Given the description of an element on the screen output the (x, y) to click on. 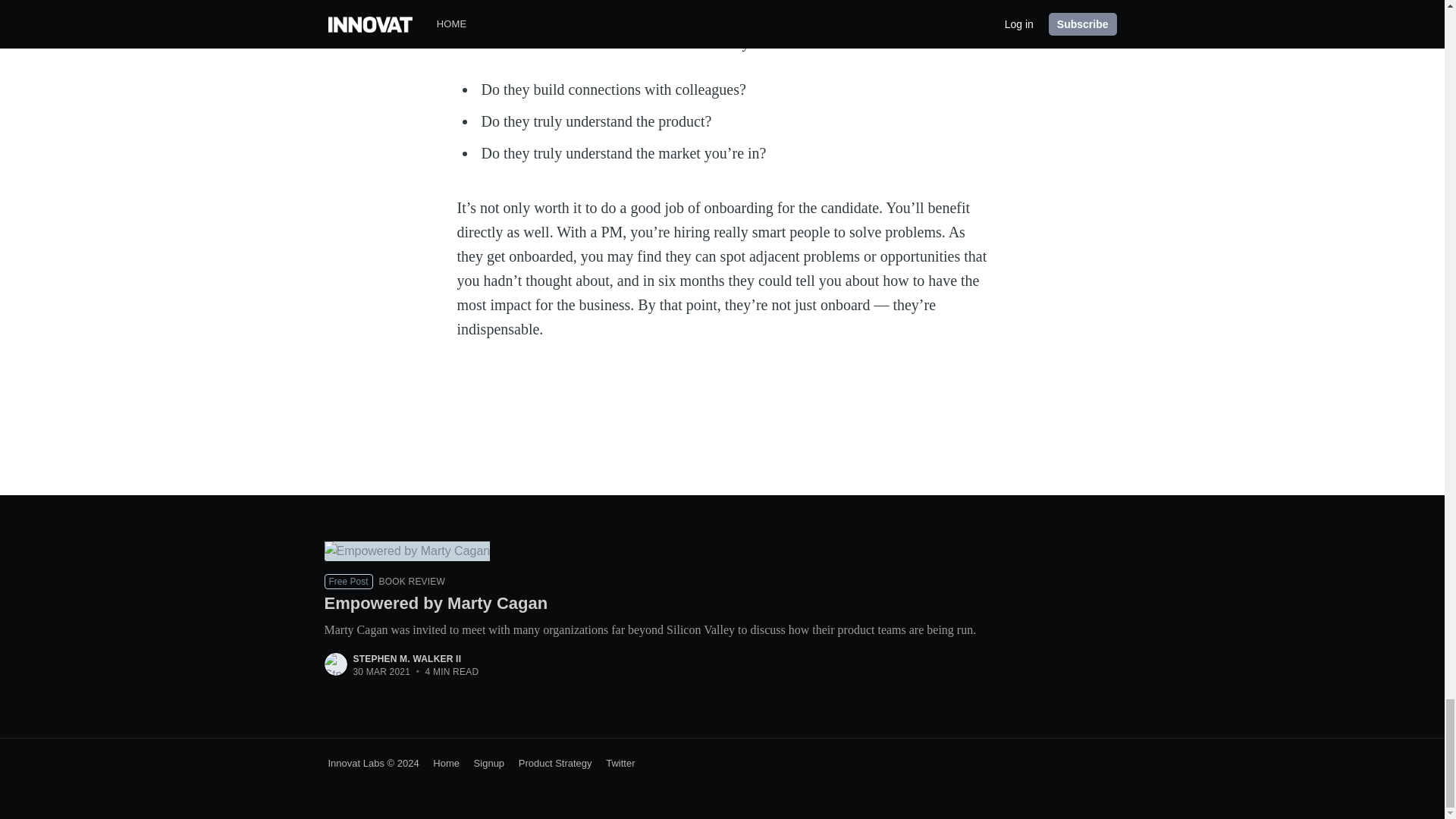
Product Strategy (549, 763)
STEPHEN M. WALKER II (407, 658)
Innovat Labs (355, 763)
Twitter (614, 763)
Home (441, 763)
Signup (483, 763)
